Given the description of an element on the screen output the (x, y) to click on. 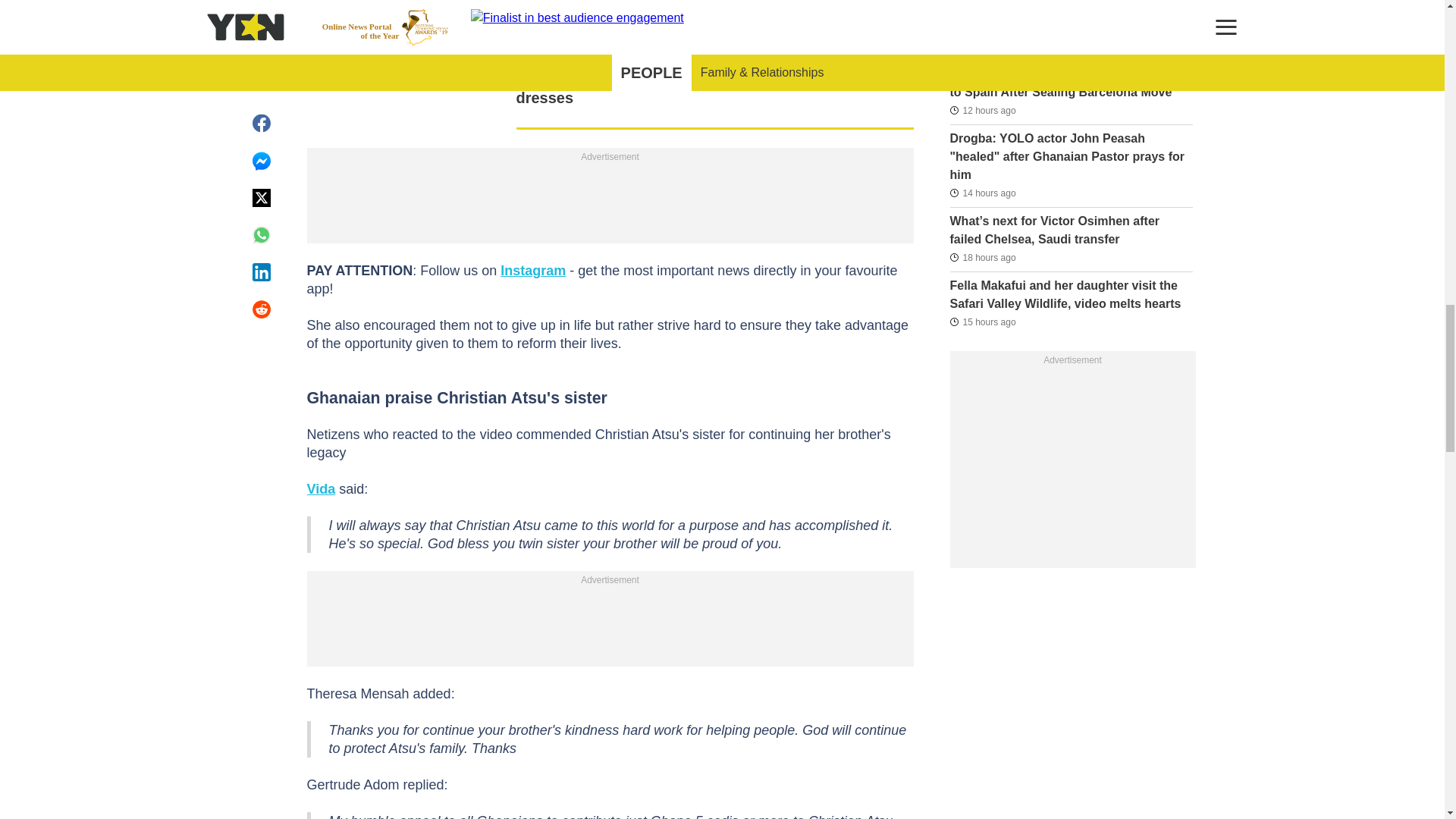
2024-08-31T14:26:23Z (981, 321)
2024-08-31T18:50:38Z (981, 45)
Instagram - Yen (533, 270)
2024-08-31T15:04:33Z (981, 192)
2024-08-31T11:09:53Z (981, 257)
2024-08-31T17:34:45Z (981, 110)
